Given the description of an element on the screen output the (x, y) to click on. 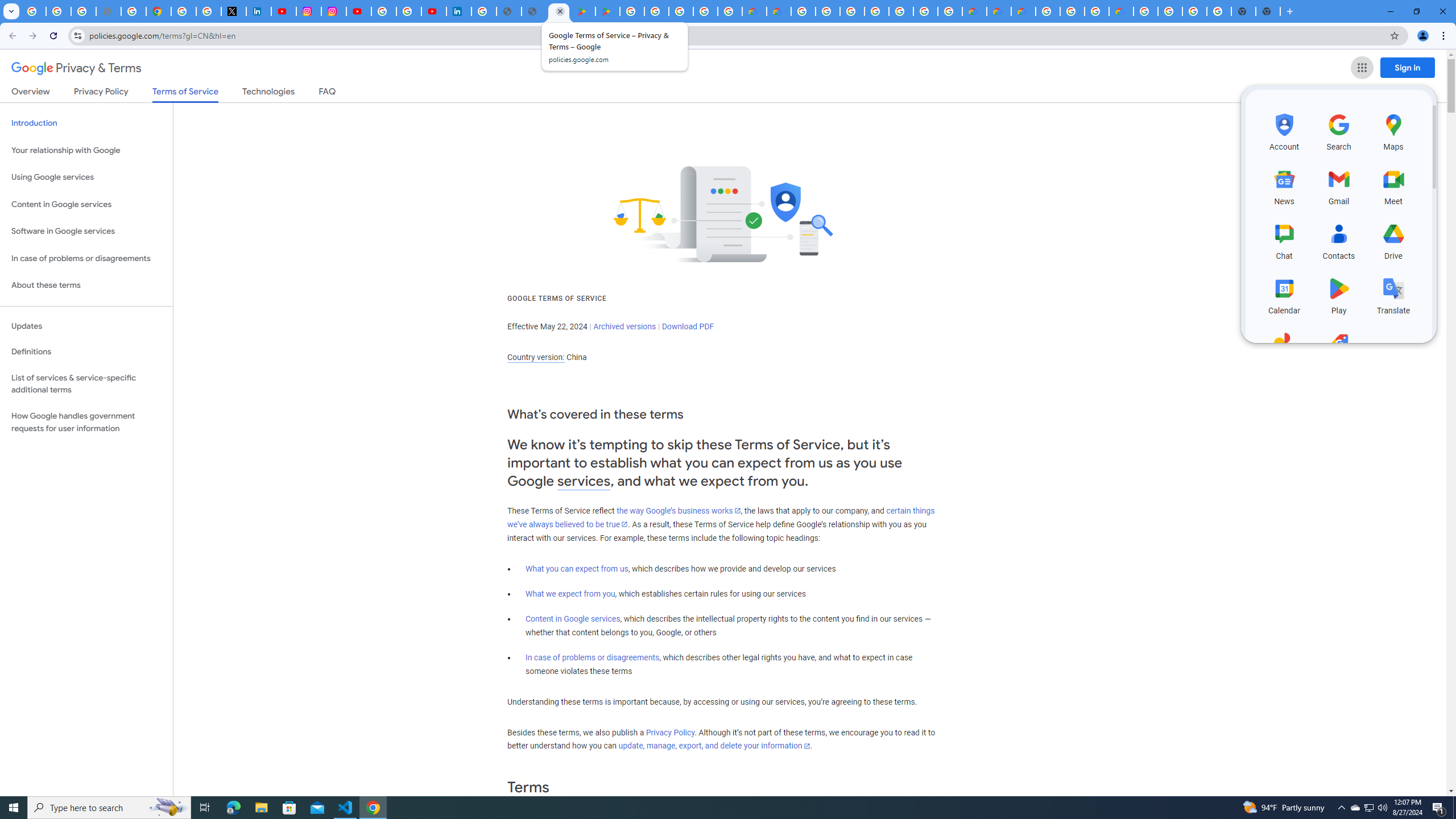
Google Workspace - Specific Terms (705, 11)
Google Cloud Service Health (1120, 11)
View site information (77, 35)
Back (10, 35)
Updates (86, 325)
support.google.com - Network error (108, 11)
You (1422, 35)
Software in Google services (86, 230)
Customer Care | Google Cloud (753, 11)
Using Google services (86, 176)
